Given the description of an element on the screen output the (x, y) to click on. 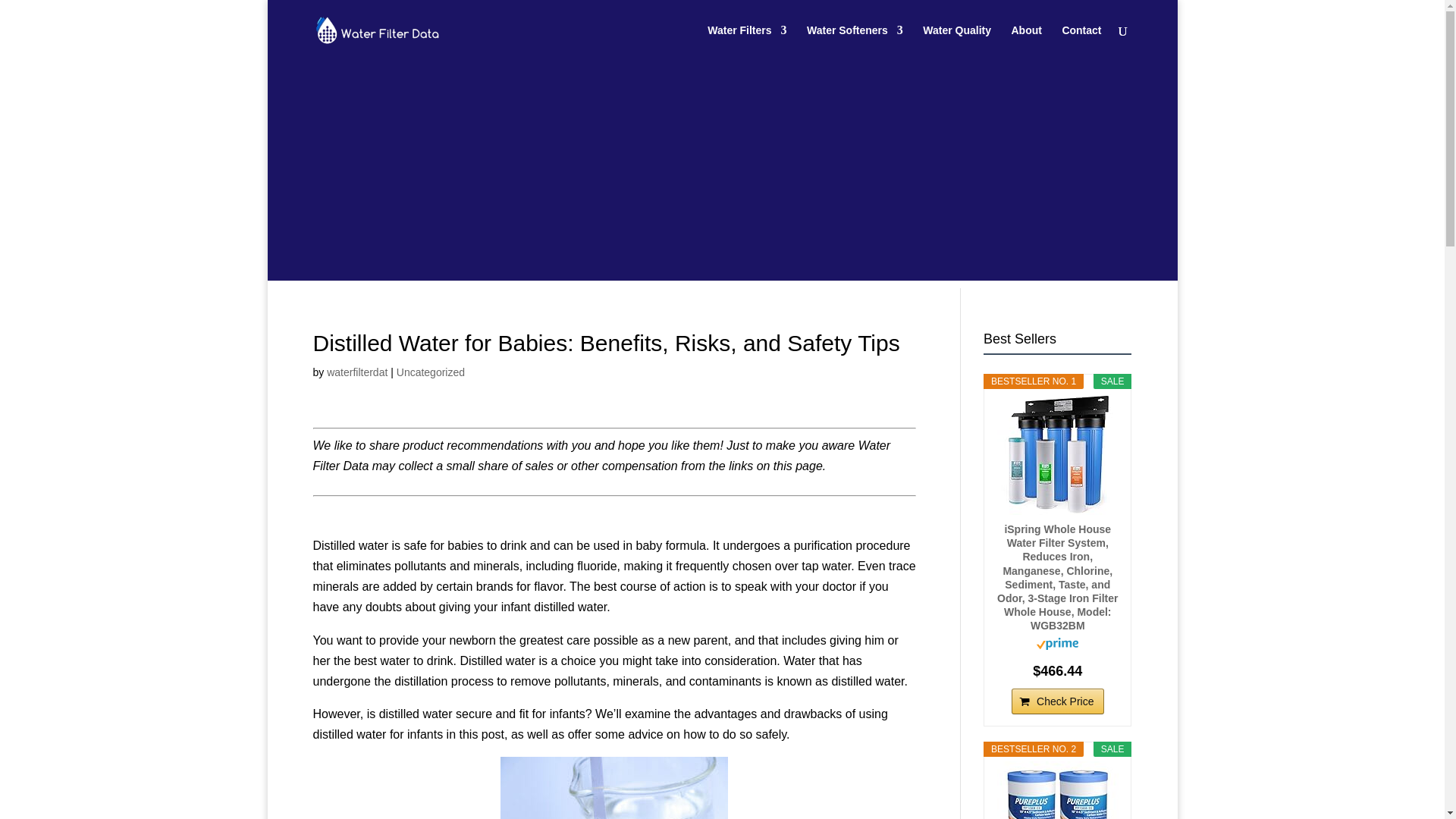
Amazon Prime (1057, 644)
Water Filters (746, 42)
waterfilterdat (356, 372)
Water Softeners (854, 42)
Contact (1080, 42)
Check Price (1057, 701)
Posts by waterfilterdat (356, 372)
Water Quality (957, 42)
